Given the description of an element on the screen output the (x, y) to click on. 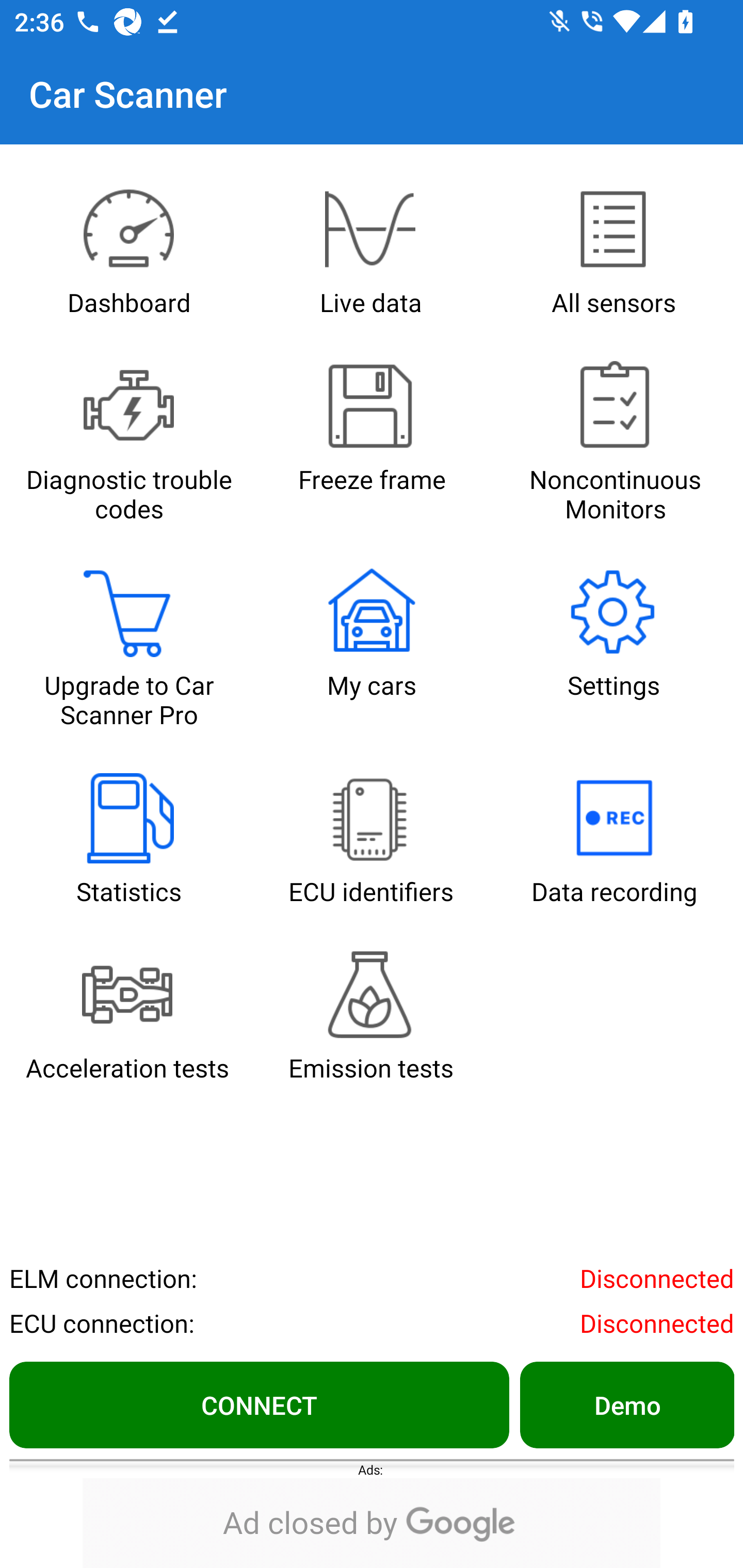
CONNECT (258, 1404)
Demo (627, 1404)
